Given the description of an element on the screen output the (x, y) to click on. 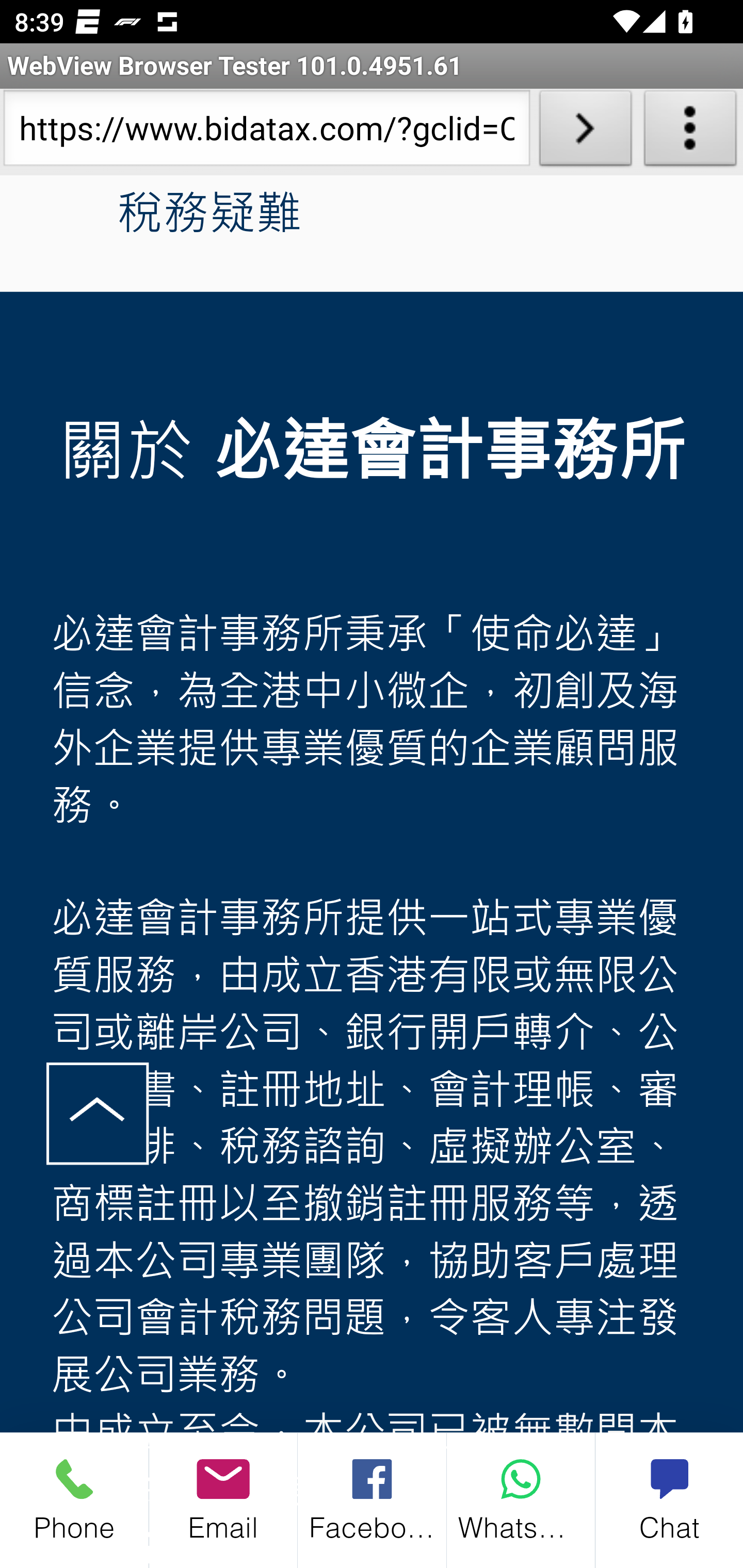
Load URL (585, 132)
About WebView (690, 132)
Phone (74, 1499)
Email (222, 1499)
Facebook (372, 1499)
WhatsApp (520, 1499)
Chat (669, 1499)
